Given the description of an element on the screen output the (x, y) to click on. 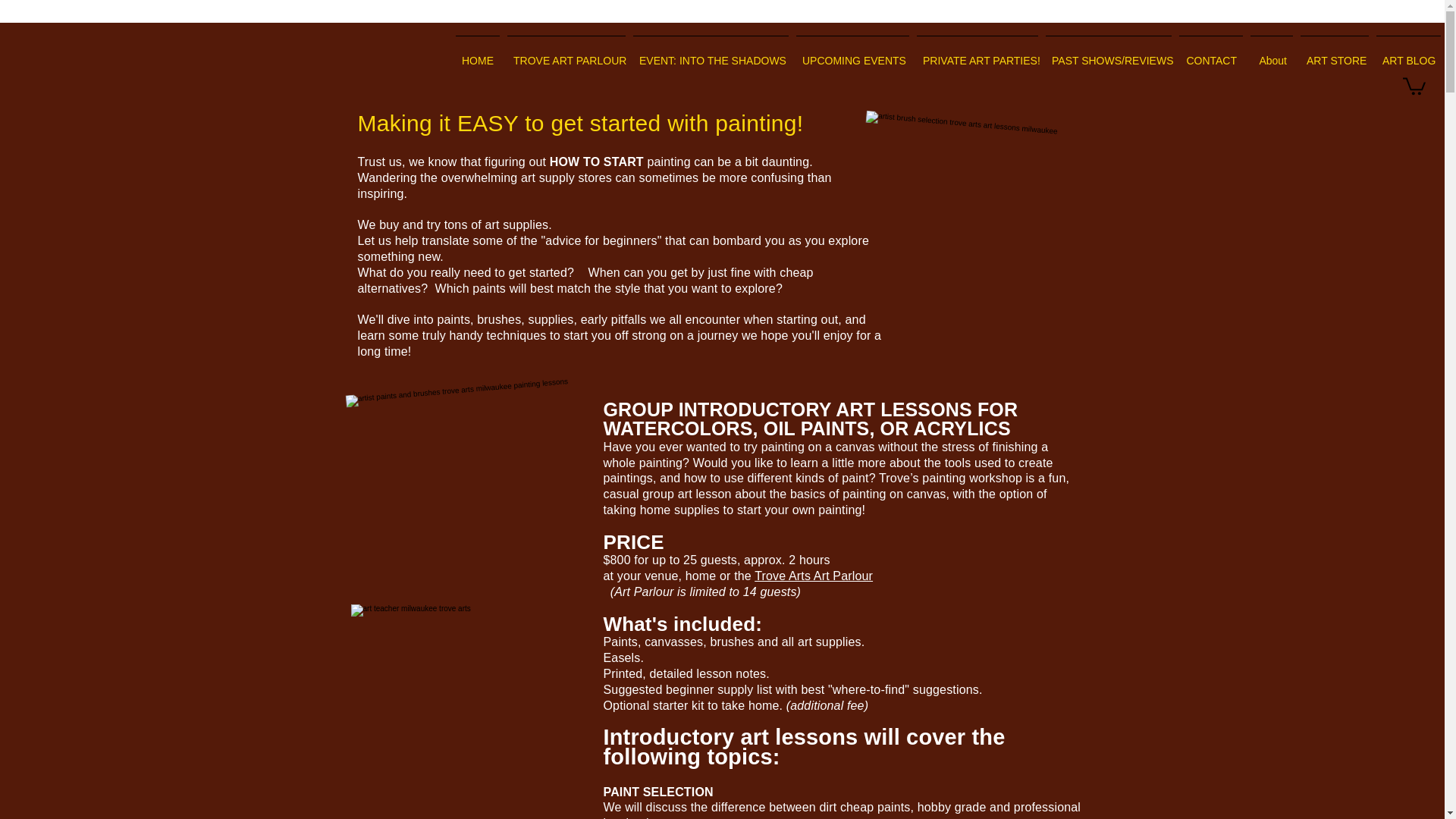
UPCOMING EVENTS (852, 54)
Trove Arts Art Parlour (813, 575)
About (1271, 54)
PRIVATE ART PARTIES! (977, 54)
ART STORE (1335, 54)
EVENT: INTO THE SHADOWS (710, 54)
TROVE ART PARLOUR (565, 54)
HOME (477, 54)
CONTACT (1210, 54)
